Given the description of an element on the screen output the (x, y) to click on. 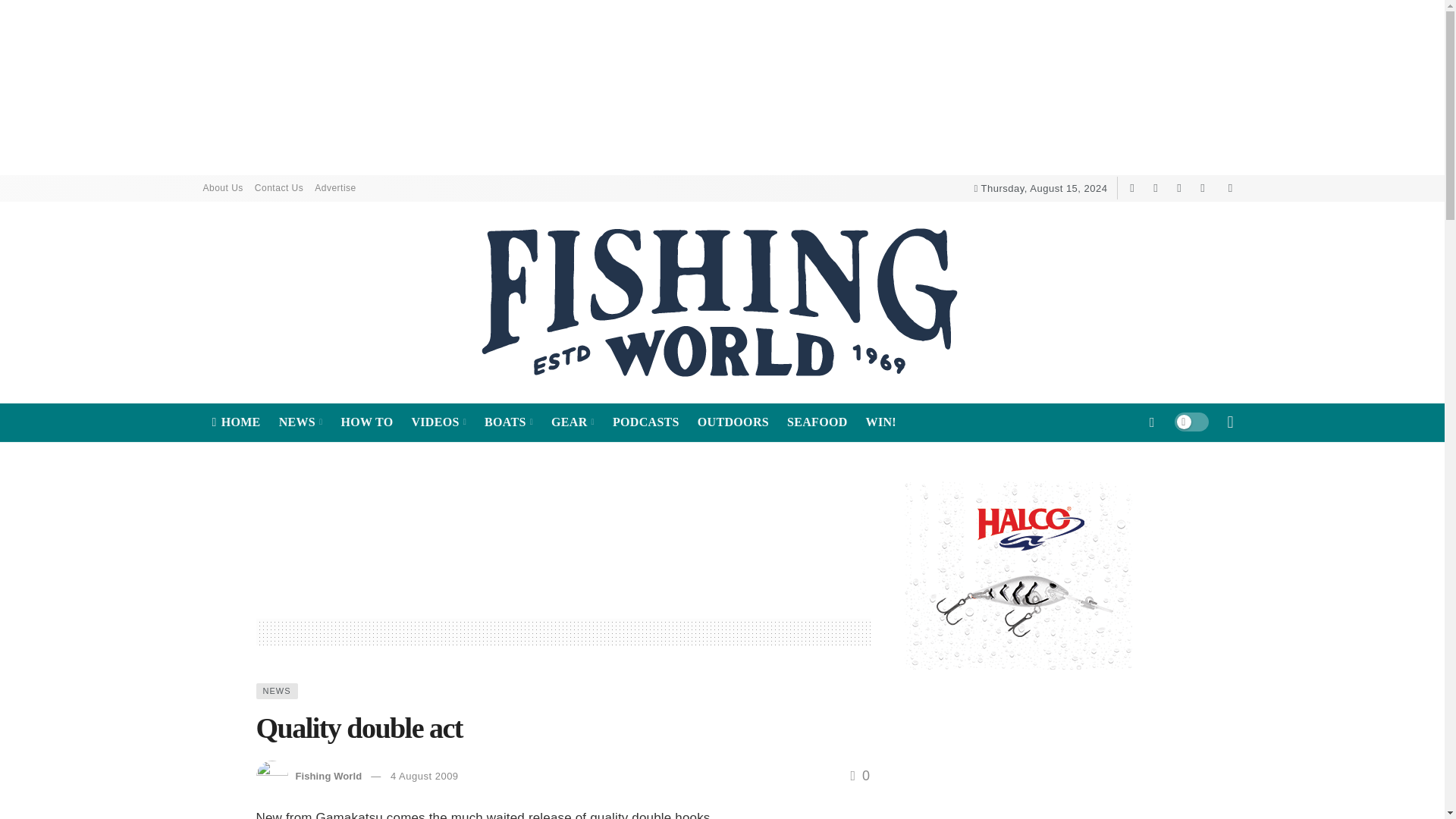
GEAR (572, 422)
NEWS (300, 422)
HOME (236, 422)
Advertise (335, 188)
OUTDOORS (732, 422)
BOATS (508, 422)
PODCASTS (646, 422)
HOW TO (366, 422)
SEAFOOD (817, 422)
Contact Us (284, 188)
